Given the description of an element on the screen output the (x, y) to click on. 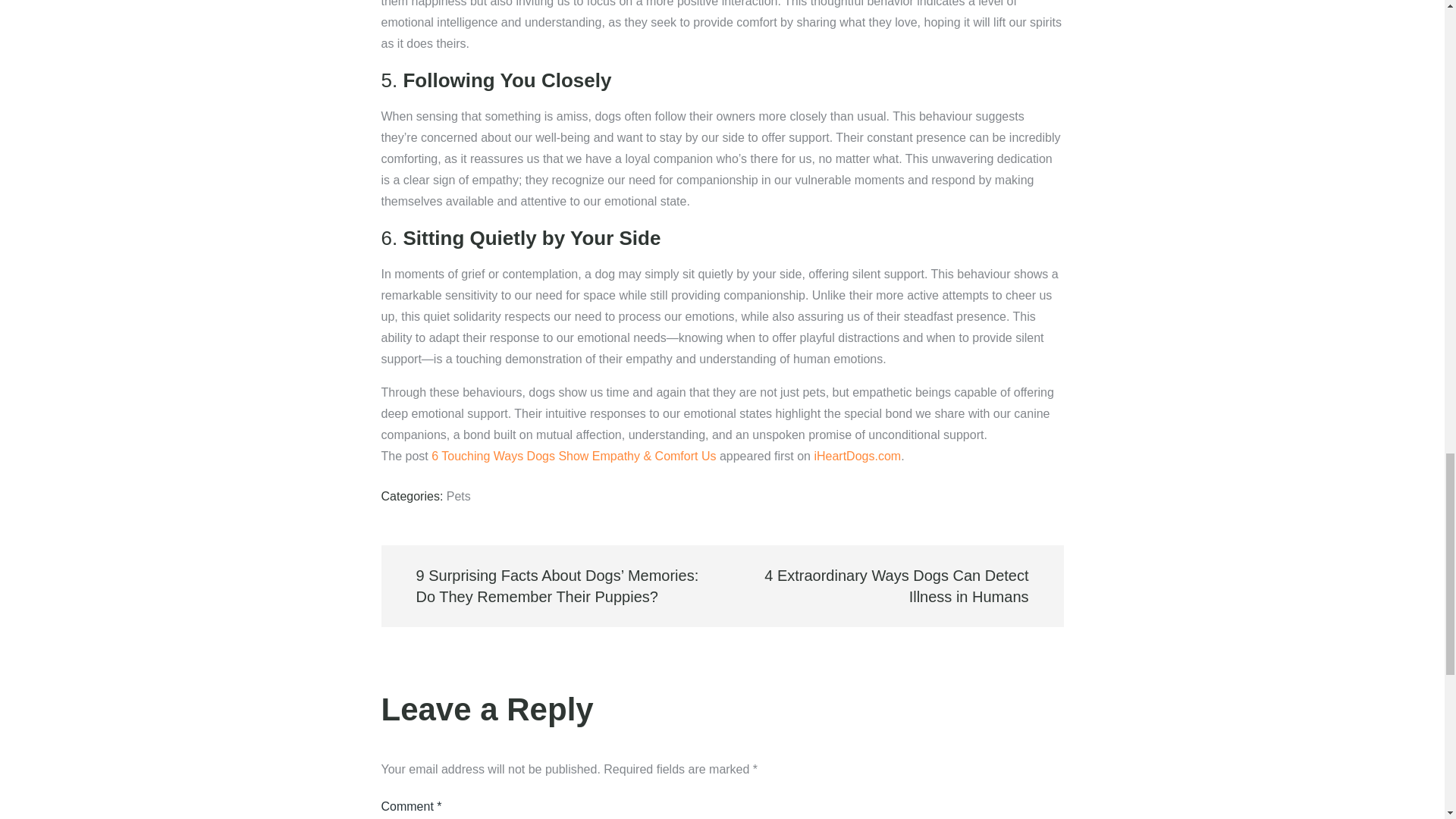
iHeartDogs.com (857, 455)
Pets (458, 495)
